Given the description of an element on the screen output the (x, y) to click on. 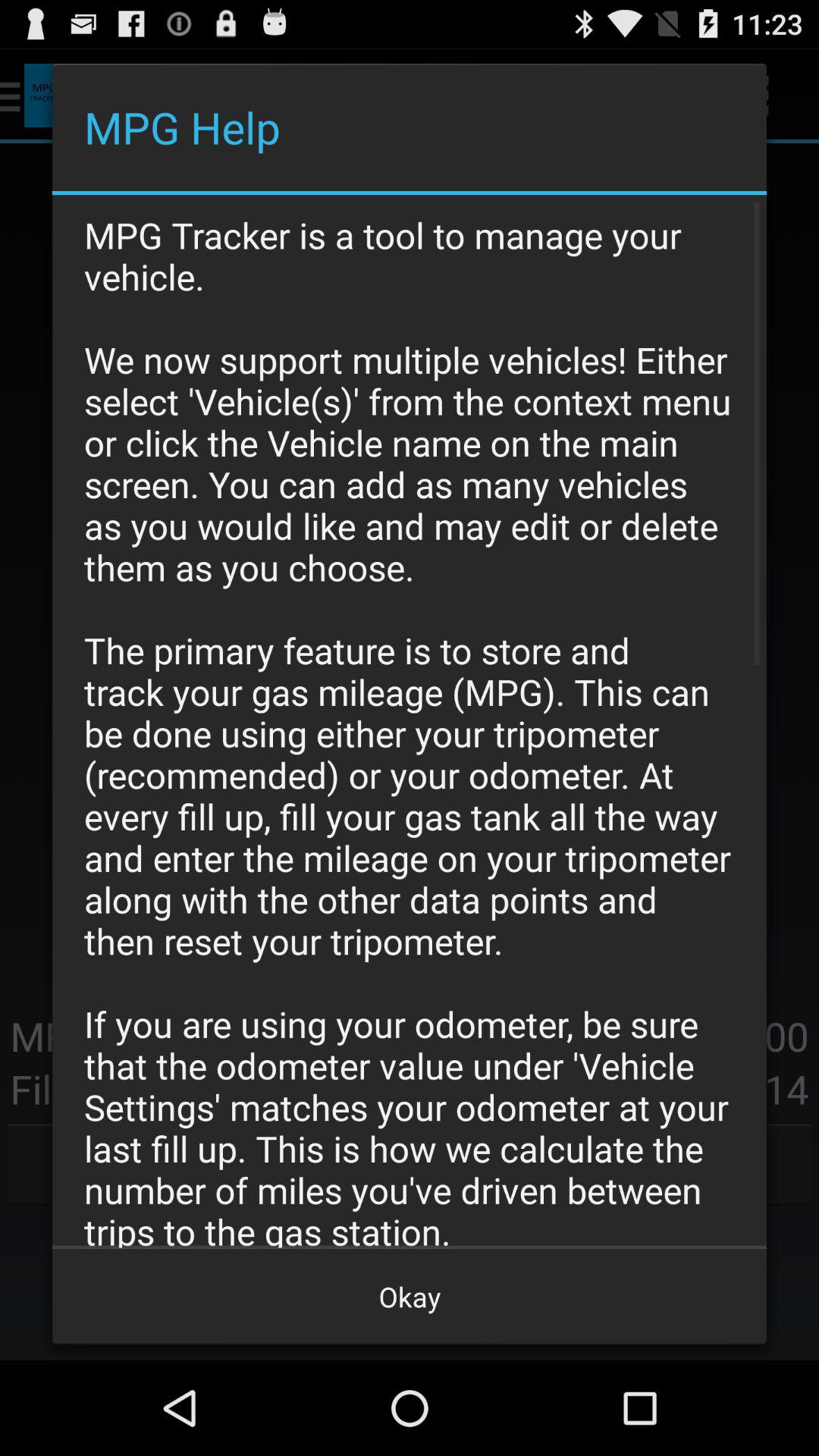
click the okay icon (409, 1296)
